Given the description of an element on the screen output the (x, y) to click on. 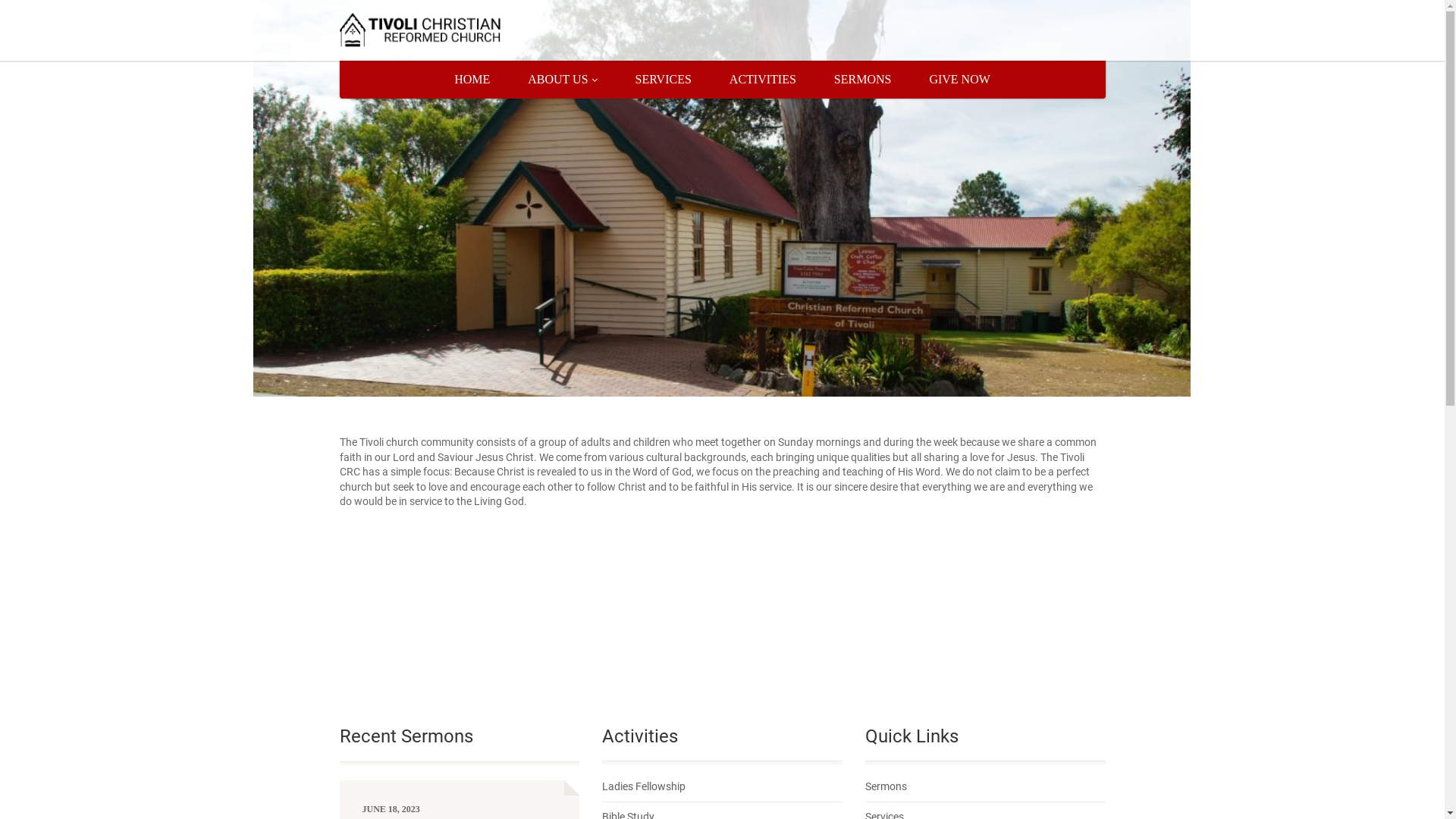
Ladies Fellowship Element type: text (643, 786)
HOME Element type: text (471, 79)
GIVE NOW Element type: text (959, 79)
Sermons Element type: text (885, 786)
ACTIVITIES Element type: text (762, 79)
Logo Element type: hover (459, 29)
ABOUT US Element type: text (561, 79)
SERVICES Element type: text (663, 79)
SERMONS Element type: text (862, 79)
